Given the description of an element on the screen output the (x, y) to click on. 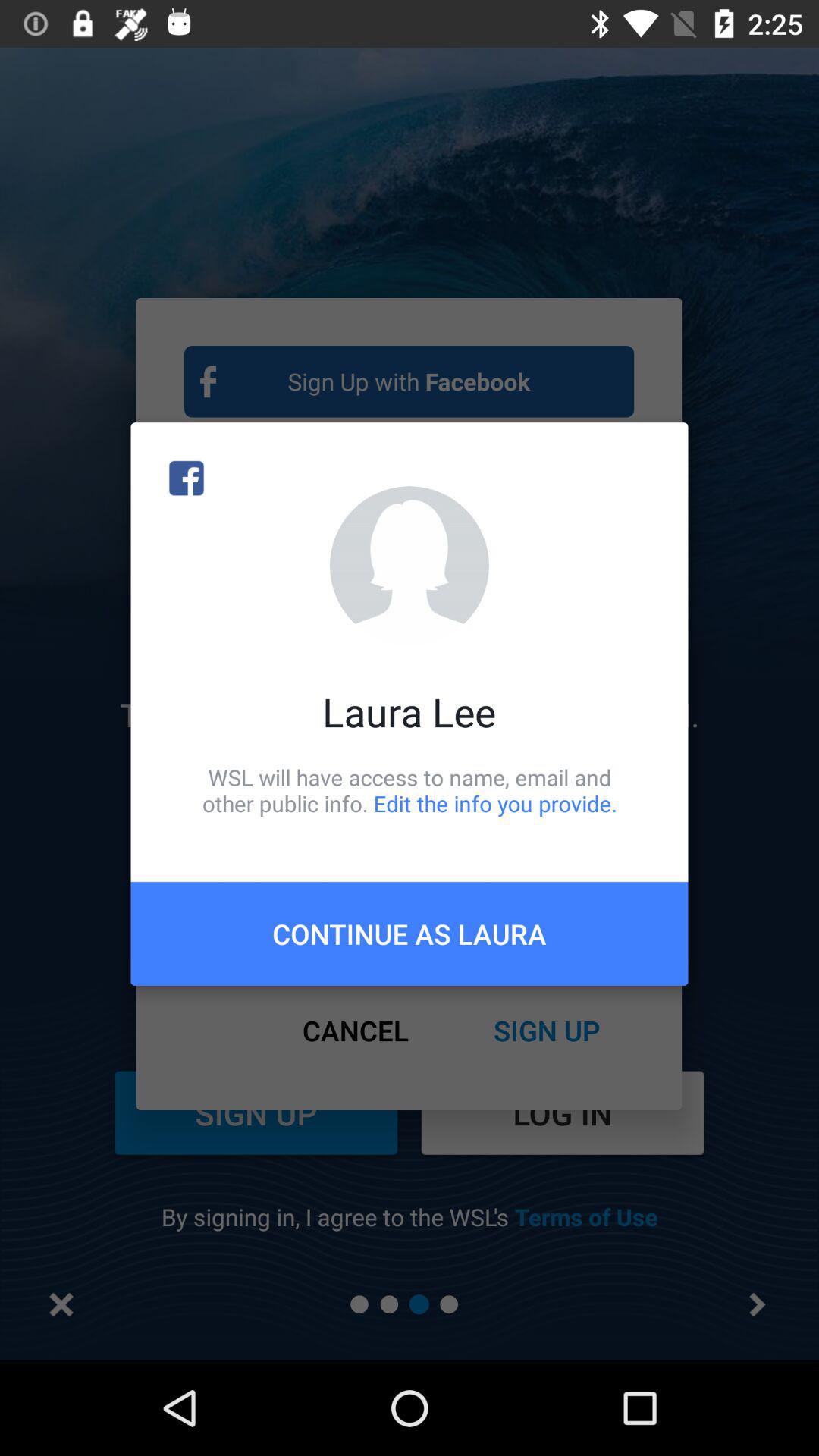
jump to continue as laura icon (409, 933)
